Given the description of an element on the screen output the (x, y) to click on. 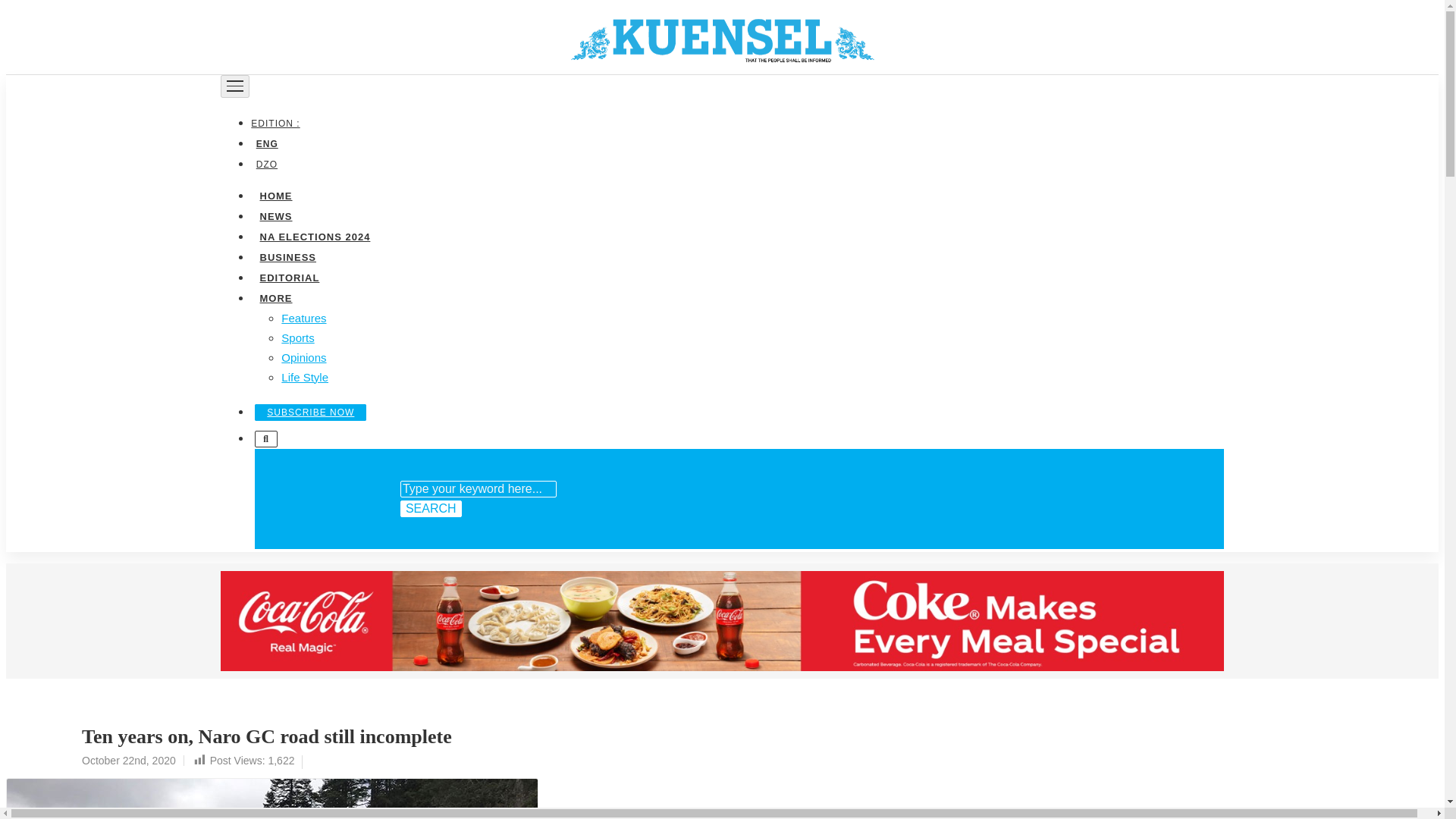
EDITION : (277, 122)
MORE (274, 297)
EDITORIAL (288, 276)
NEWS (274, 215)
Sports (297, 336)
HOME (274, 194)
SEARCH (430, 508)
BUSINESS (287, 256)
SUBSCRIBE NOW (310, 411)
Features (303, 317)
ENG (266, 143)
Life Style (305, 376)
Opinions (303, 356)
NA ELECTIONS 2024 (314, 235)
DZO (266, 163)
